Given the description of an element on the screen output the (x, y) to click on. 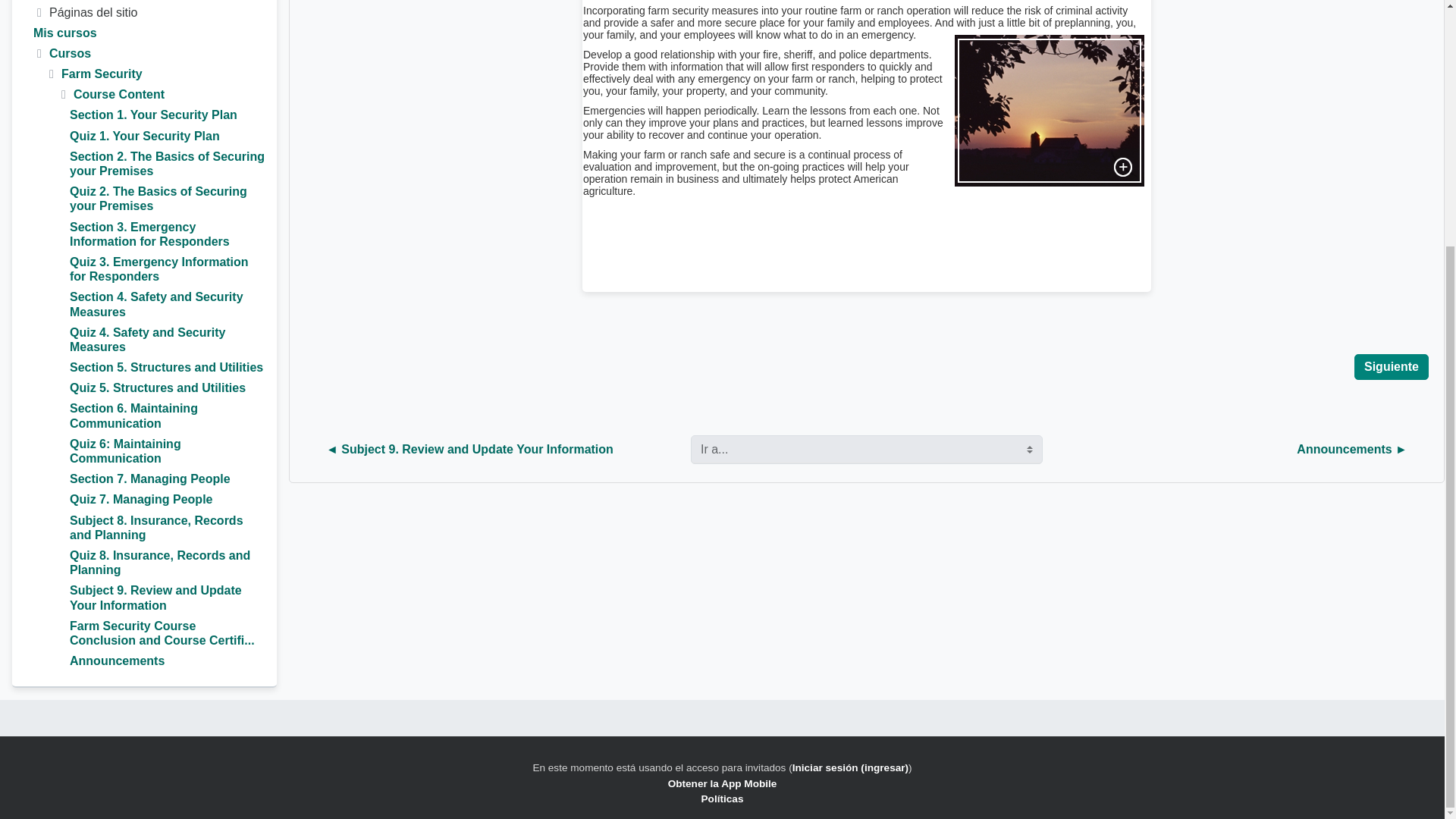
Farm Security (101, 73)
Course Content (119, 93)
Section 1. Your Security Plan (153, 114)
Section 2. The Basics of Securing your Premises (166, 163)
Libro (166, 163)
Examen (144, 135)
Examen (166, 198)
Siguiente (1391, 366)
Farm at Sunrise (1049, 110)
Mis cursos (65, 32)
